Given the description of an element on the screen output the (x, y) to click on. 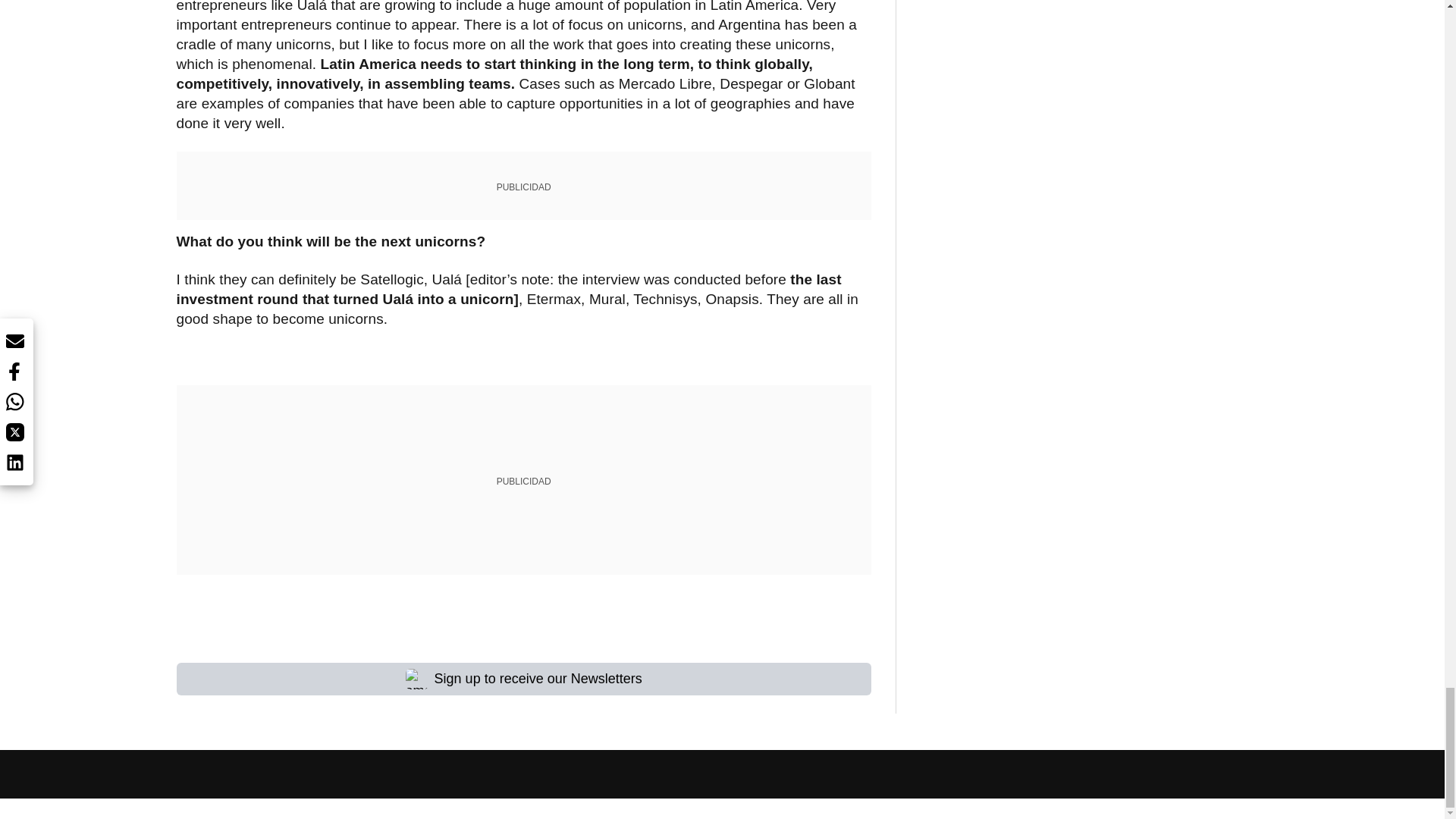
email-registration (417, 679)
